Given the description of an element on the screen output the (x, y) to click on. 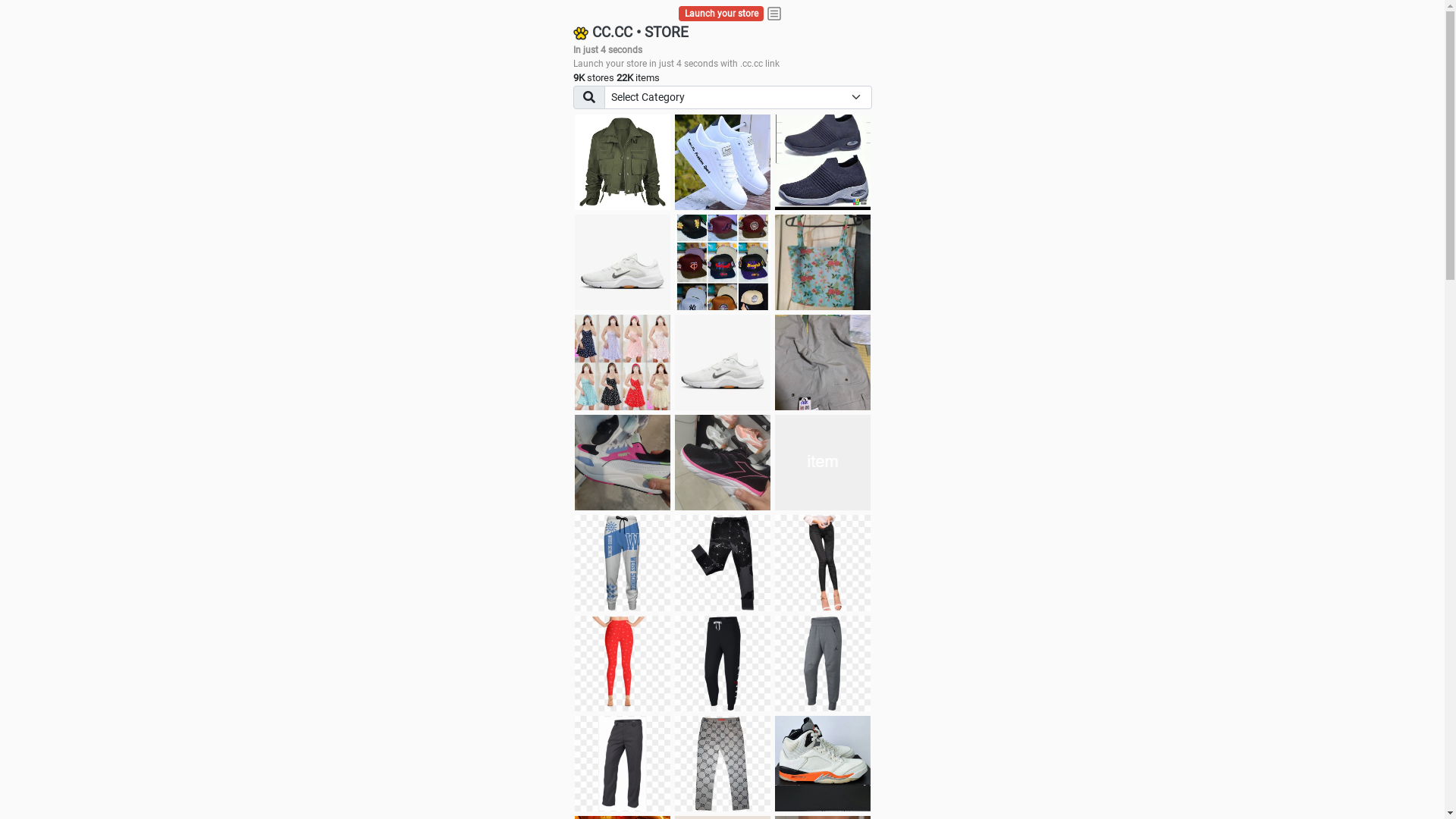
Dress/square nect top Element type: hover (622, 362)
Pant Element type: hover (622, 562)
Pant Element type: hover (722, 763)
Zapatillas pumas Element type: hover (622, 462)
Shoes for boys Element type: hover (622, 262)
Launch your store Element type: text (721, 13)
Shoe Element type: hover (822, 763)
Things we need Element type: hover (722, 262)
Zapatillas Element type: hover (722, 462)
Pant Element type: hover (622, 763)
shoes for boys Element type: hover (822, 162)
Pant Element type: hover (822, 663)
Ukay cloth Element type: hover (822, 262)
white shoes Element type: hover (722, 162)
Pant Element type: hover (822, 562)
Pant Element type: hover (722, 562)
jacket Element type: hover (622, 162)
Shoes Element type: hover (722, 362)
Pant Element type: hover (722, 663)
Short pant Element type: hover (822, 462)
Pant Element type: hover (622, 663)
